Given the description of an element on the screen output the (x, y) to click on. 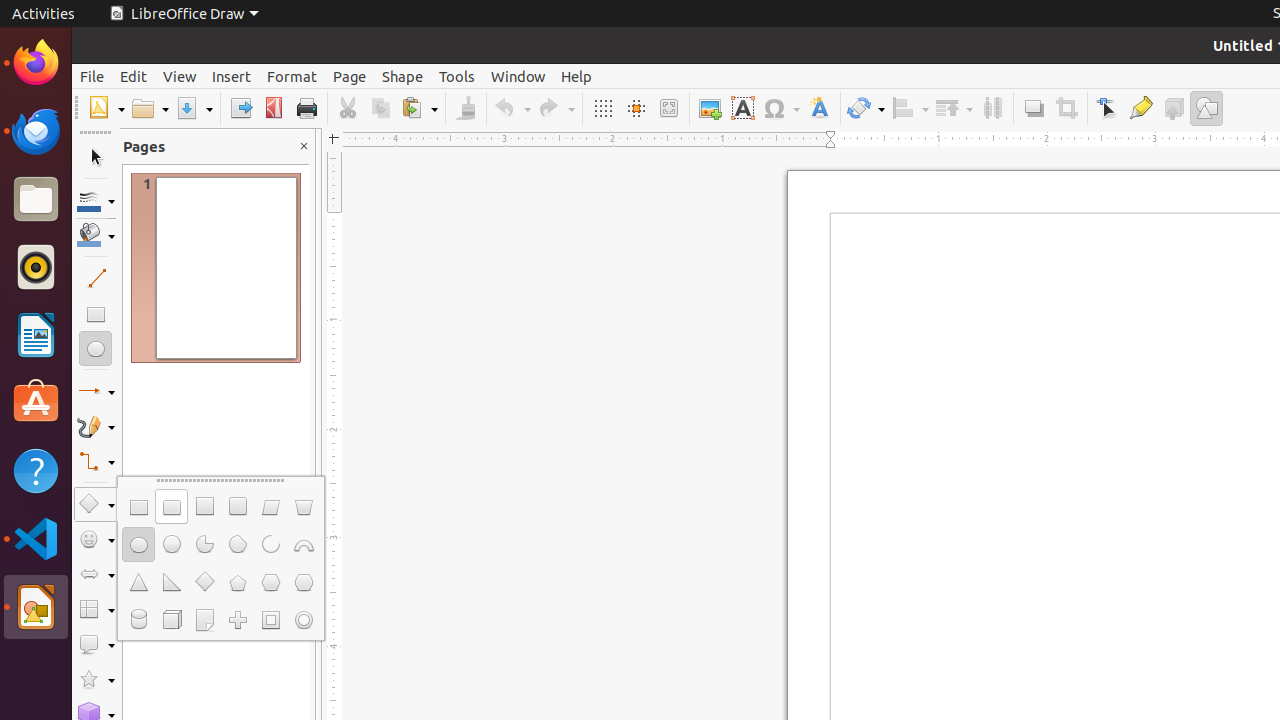
Clone Element type: push-button (465, 108)
Align Element type: push-button (910, 108)
Undo Element type: push-button (512, 108)
Thunderbird Mail Element type: push-button (36, 131)
Export Element type: push-button (240, 108)
